Given the description of an element on the screen output the (x, y) to click on. 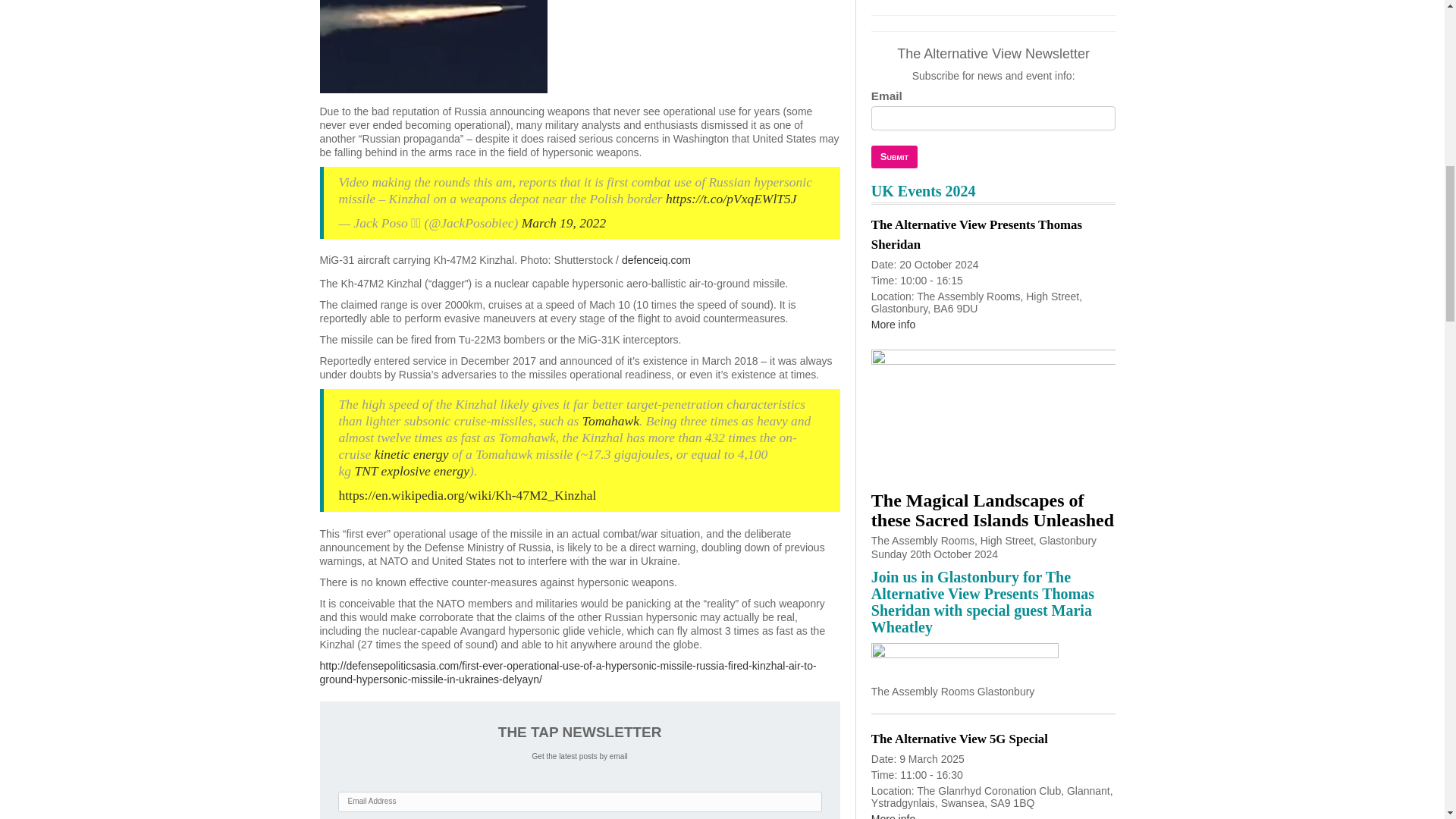
explosive energy (424, 470)
kinetic energy (411, 453)
More info (892, 324)
March 19, 2022 (564, 222)
Tomahawk (610, 420)
TNT (365, 470)
defenceiq.com (655, 259)
Submit (893, 156)
